Given the description of an element on the screen output the (x, y) to click on. 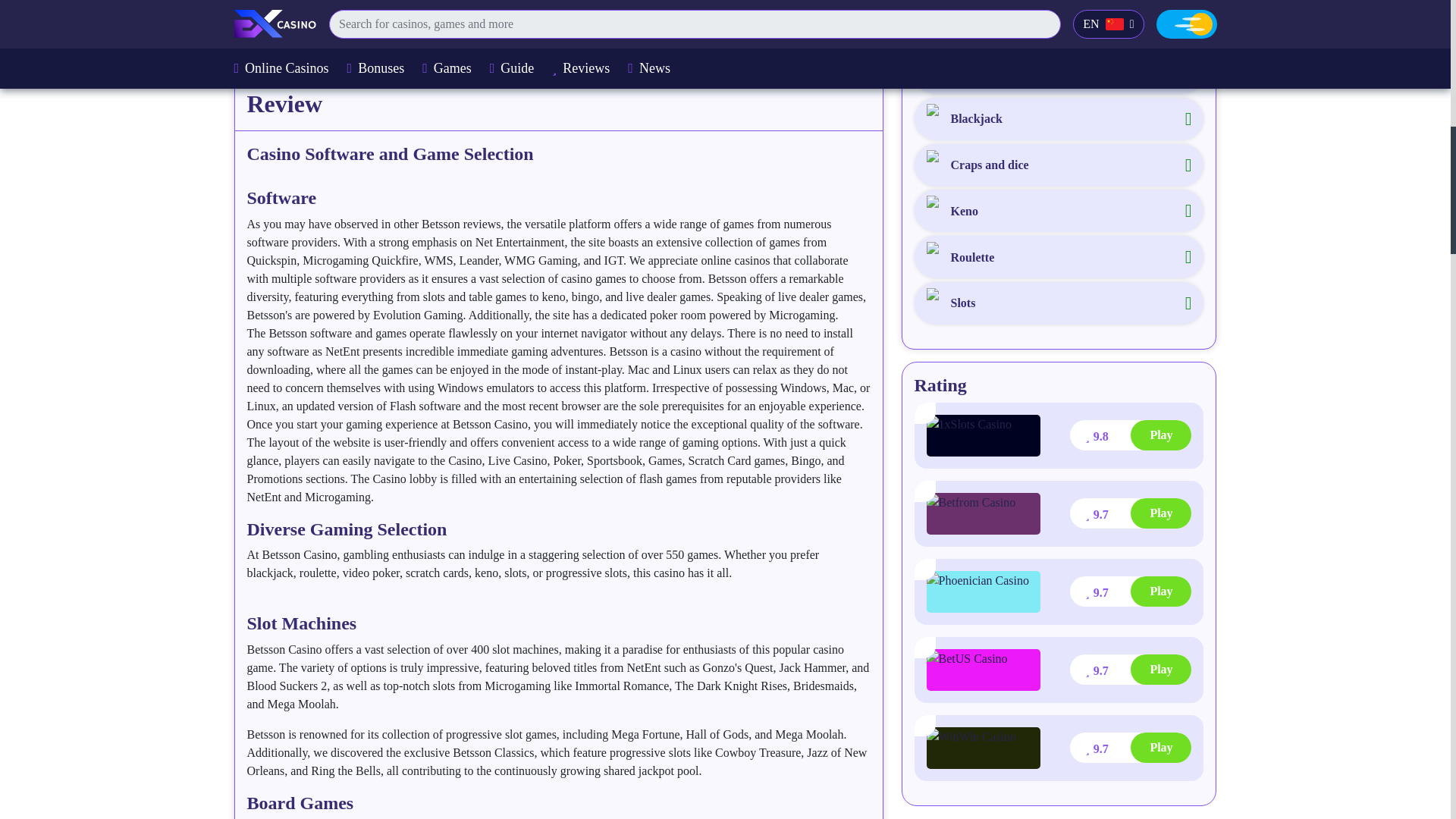
Play - BetUS Casino (1130, 669)
Betfrom Casino - review (983, 513)
Play - 1xSlots Casino (1130, 435)
Play - Betfrom Casino (1130, 512)
WinWin Casino - review (983, 748)
Play - WinWin Casino (1130, 747)
Play - Phoenician Casino (1130, 591)
Phoenician Casino - review (983, 591)
1xSlots Casino - review (983, 435)
BetUS Casino - review (983, 670)
